Given the description of an element on the screen output the (x, y) to click on. 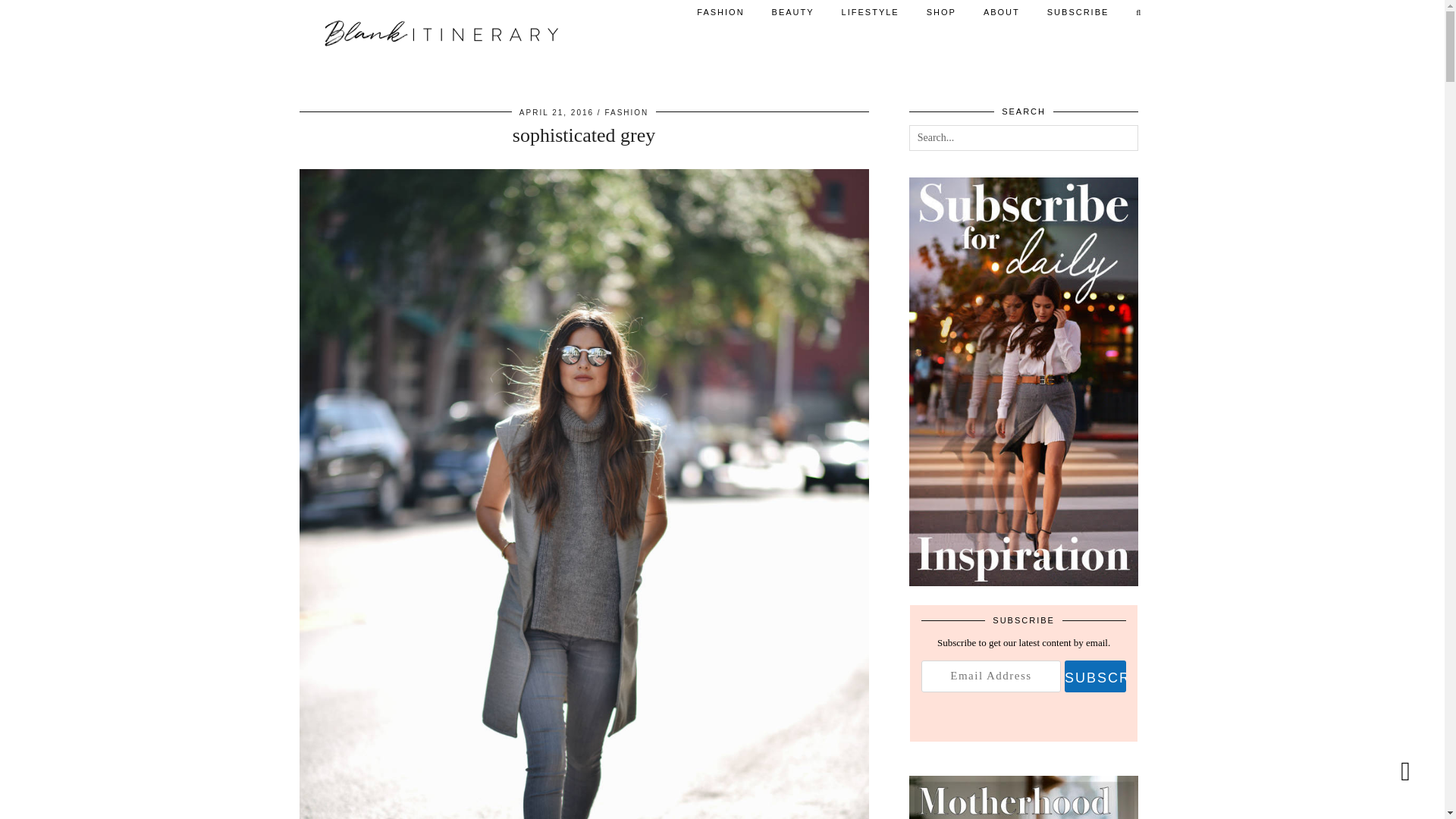
ABOUT (1001, 12)
Blank Itinerary (437, 32)
SUBSCRIBE (1077, 12)
FASHION (719, 12)
SHOP (940, 12)
BEAUTY (793, 12)
LIFESTYLE (870, 12)
FASHION (625, 112)
